Given the description of an element on the screen output the (x, y) to click on. 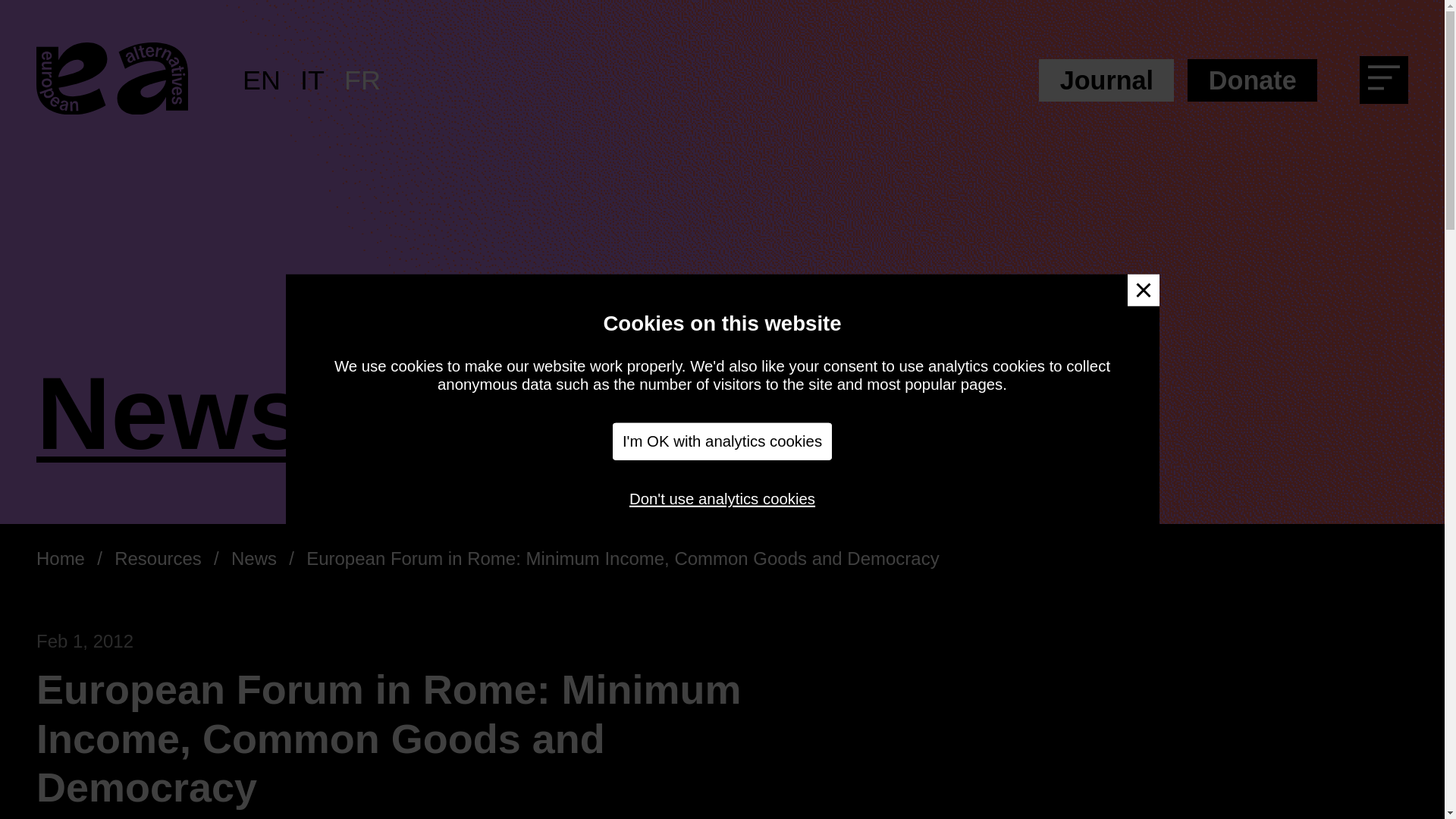
IT (311, 79)
FR (361, 79)
Menu (1389, 82)
Don't use analytics cookies (721, 498)
EN (262, 79)
Dismiss message (1142, 290)
Go to the European Alternatives home page (111, 79)
Journal (1106, 79)
Donate (1252, 79)
EN (262, 79)
I'm OK with analytics cookies (722, 441)
IT (311, 79)
FR (361, 79)
